Given the description of an element on the screen output the (x, y) to click on. 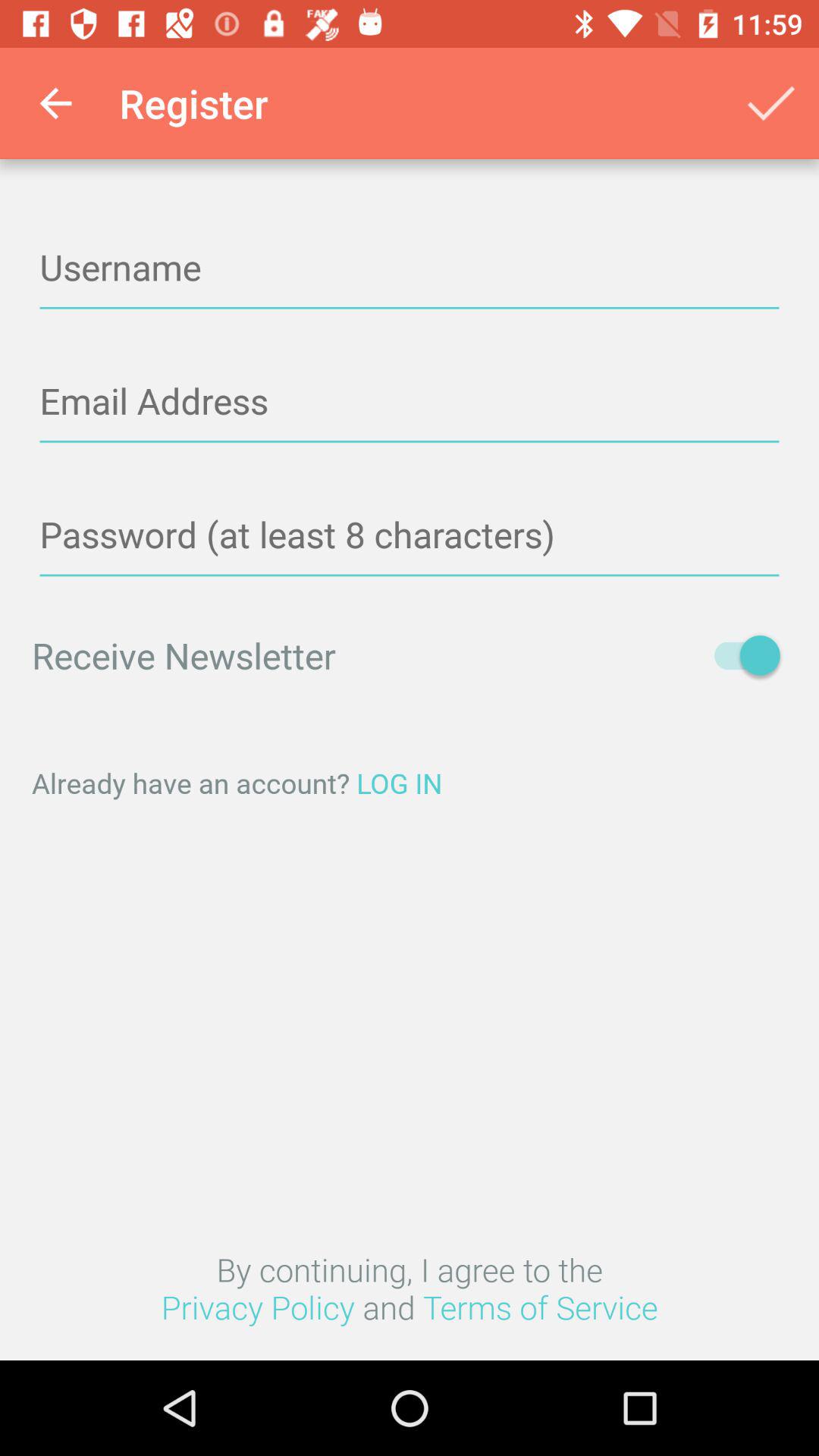
switch on to receive newsletter (739, 655)
